Given the description of an element on the screen output the (x, y) to click on. 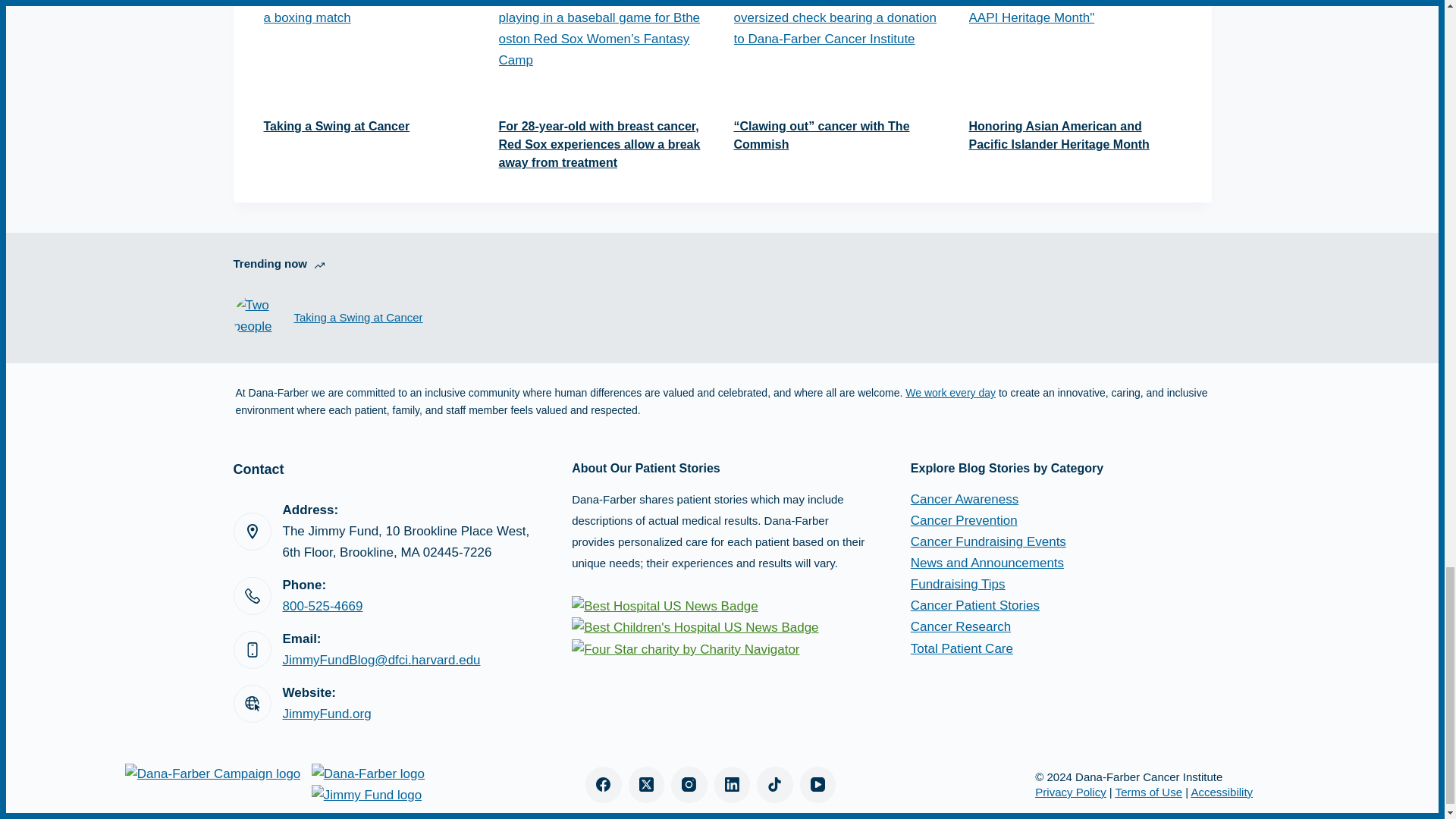
Cancer Fundraising Events (988, 541)
800-525-4669 (322, 605)
We work every day (950, 392)
Taking a Swing at Cancer (358, 317)
Cancer Awareness (964, 499)
News and Announcements (987, 563)
Honoring Asian American and Pacific Islander Heritage Month (1059, 134)
JimmyFund.org (326, 713)
Taking a Swing at Cancer (336, 125)
